Given the description of an element on the screen output the (x, y) to click on. 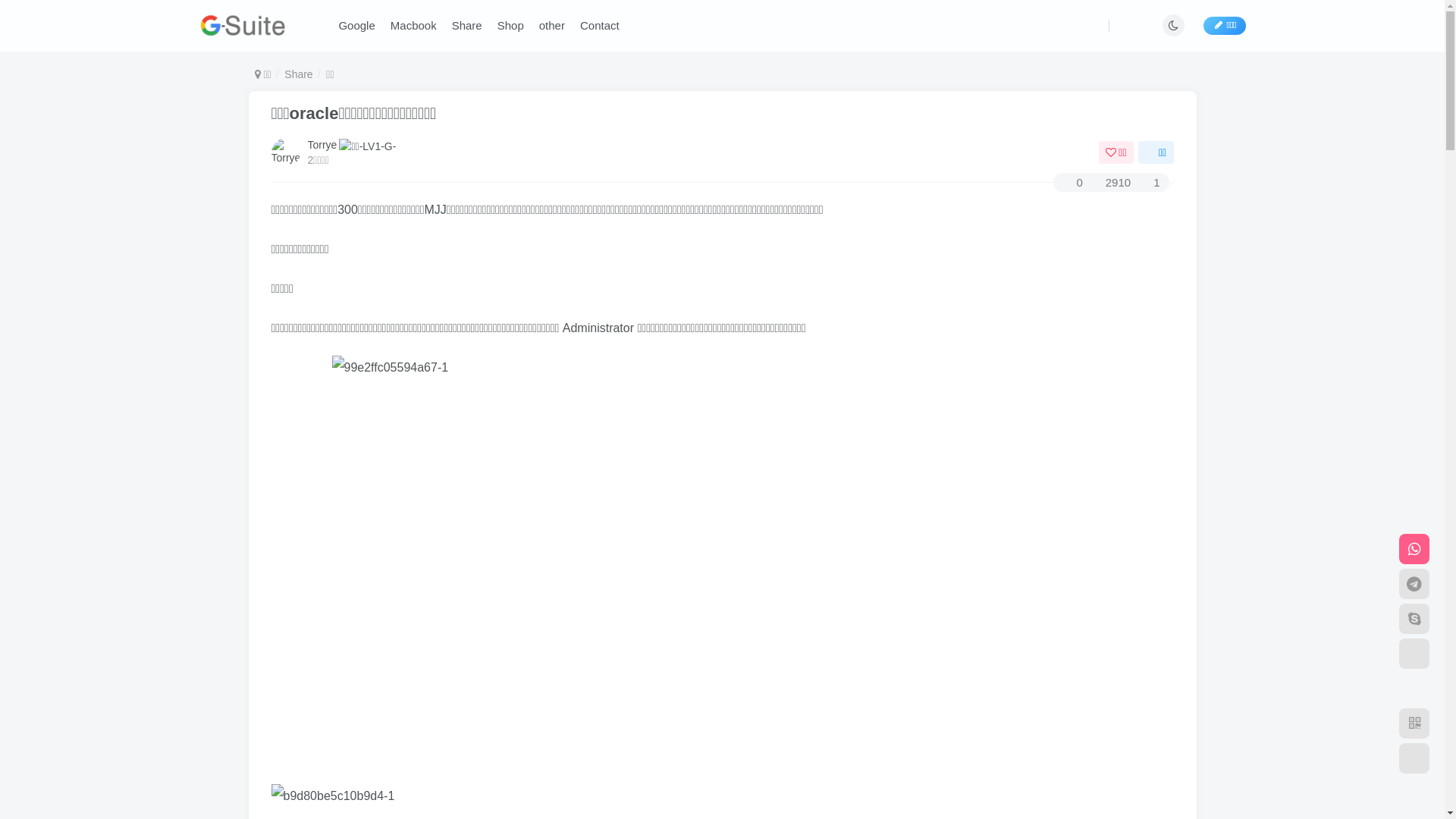
Skype Element type: hover (1414, 618)
Contact Element type: text (599, 25)
99e2ffc05594a67-1 Element type: hover (722, 561)
whatsapp Element type: hover (1414, 548)
Telegram Element type: hover (1414, 583)
Share Element type: text (298, 74)
LV1 Element type: hover (370, 144)
Macbook Element type: text (413, 25)
Shop Element type: text (510, 25)
other Element type: text (551, 25)
Share Element type: text (466, 25)
0 Element type: text (1072, 181)
Torrye Element type: text (322, 144)
Google Element type: text (356, 25)
Email Element type: hover (1414, 653)
